Given the description of an element on the screen output the (x, y) to click on. 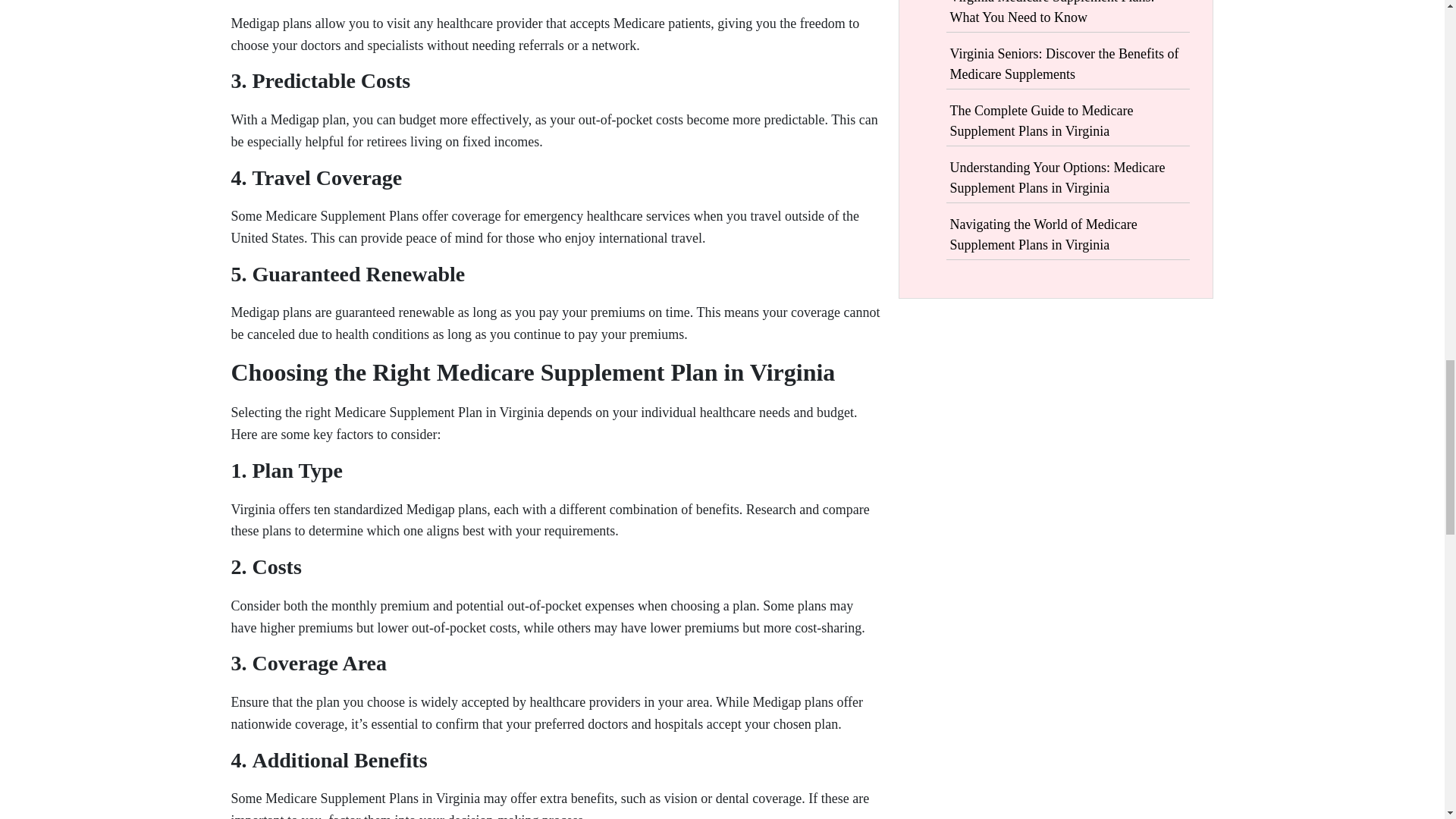
Virginia Medicare Supplement Plans: What You Need to Know (1051, 12)
The Complete Guide to Medicare Supplement Plans in Virginia (1040, 120)
